Given the description of an element on the screen output the (x, y) to click on. 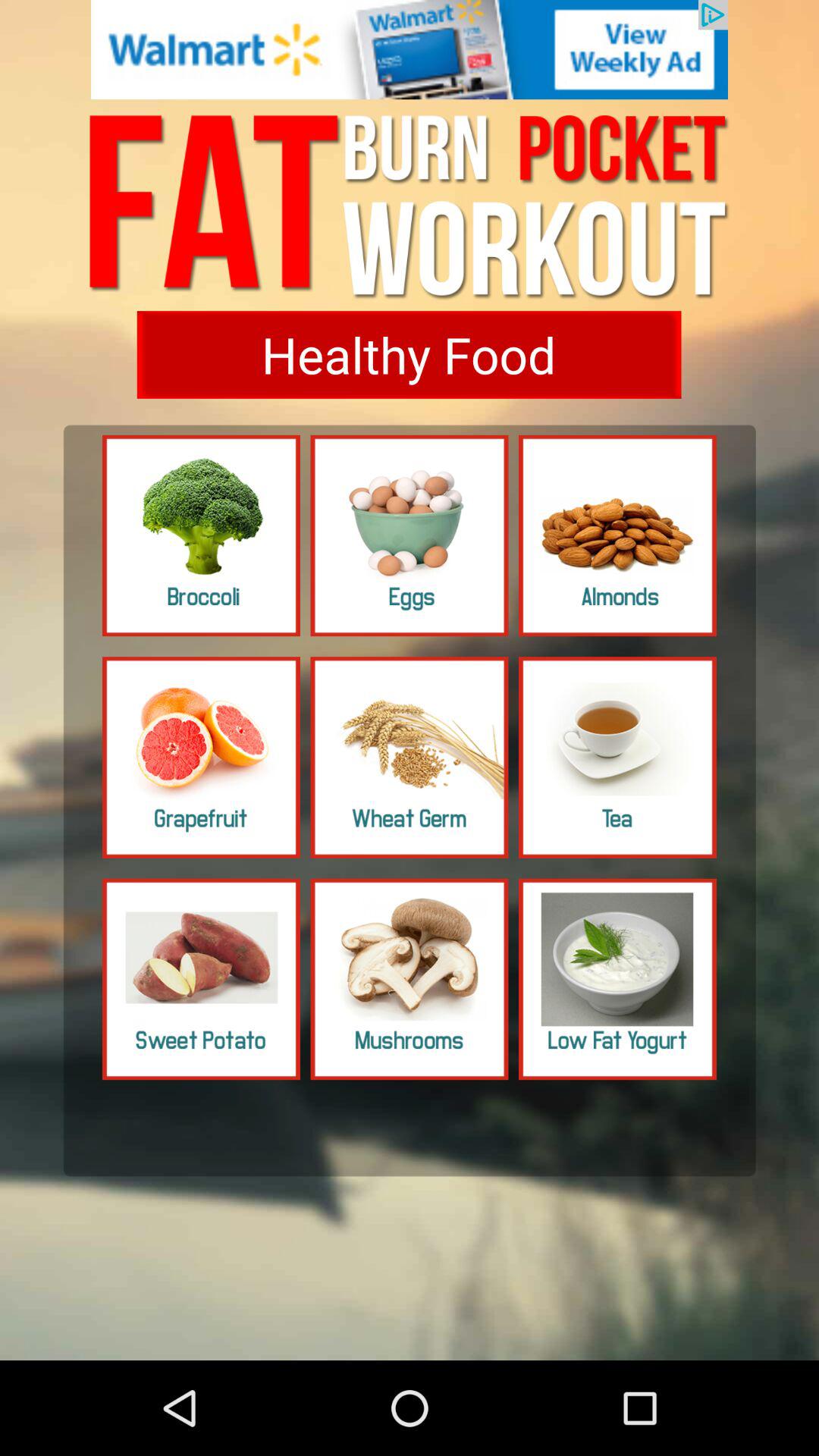
select food panel (201, 535)
